Given the description of an element on the screen output the (x, y) to click on. 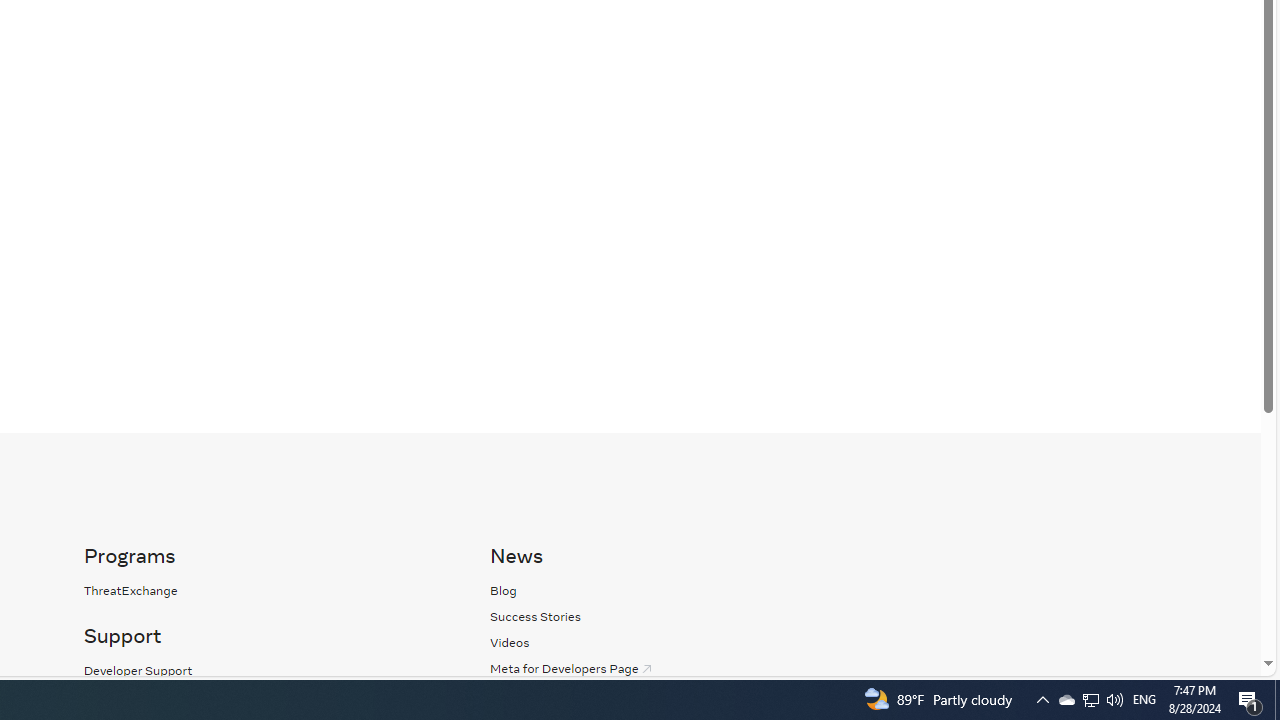
Blog (503, 590)
Meta for Developers Page (572, 668)
Videos (672, 642)
Developer Support (266, 670)
Blog (672, 590)
ThreatExchange (130, 590)
Developer Support (138, 670)
Videos (509, 642)
Success Stories (672, 616)
Meta for Developers Page (672, 668)
Success Stories (535, 616)
ThreatExchange (266, 590)
